Given the description of an element on the screen output the (x, y) to click on. 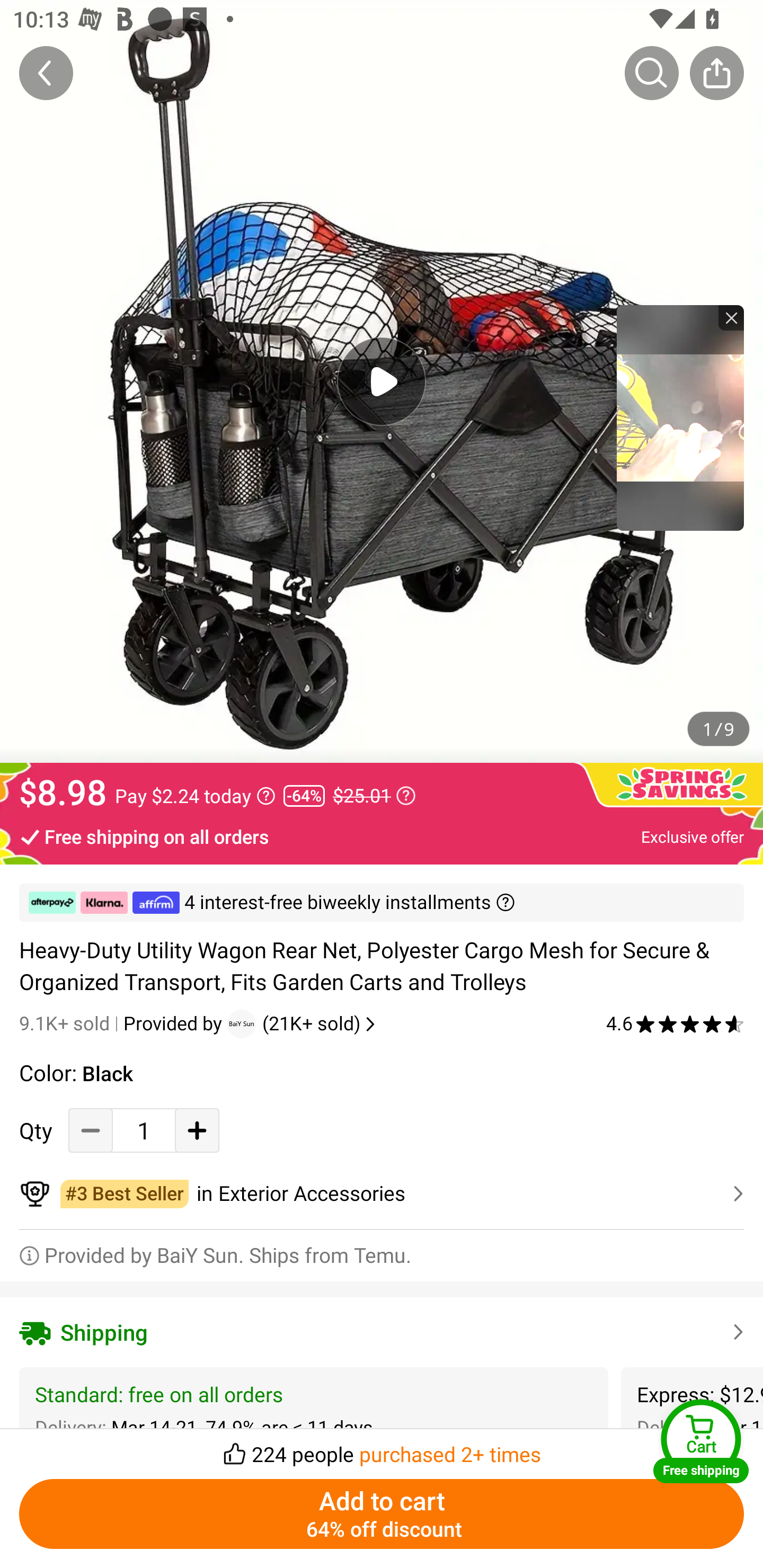
Back (46, 72)
Share (716, 72)
tronplayer_view (680, 417)
Pay $2.24 today   (195, 795)
Free shipping on all orders Exclusive offer (381, 836)
￼ ￼ ￼ 4 interest-free biweekly installments ￼ (381, 902)
9.1K+ sold Provided by  (123, 1023)
4.6 (674, 1023)
Decrease Quantity Button (90, 1130)
1 (143, 1130)
Add Quantity button (196, 1130)
￼￼in Exterior Accessories (381, 1193)
Shipping (381, 1331)
Cart Free shipping Cart (701, 1440)
￼￼224 people purchased 2+ times (381, 1448)
Add to cart  64% off discount (381, 1513)
